Given the description of an element on the screen output the (x, y) to click on. 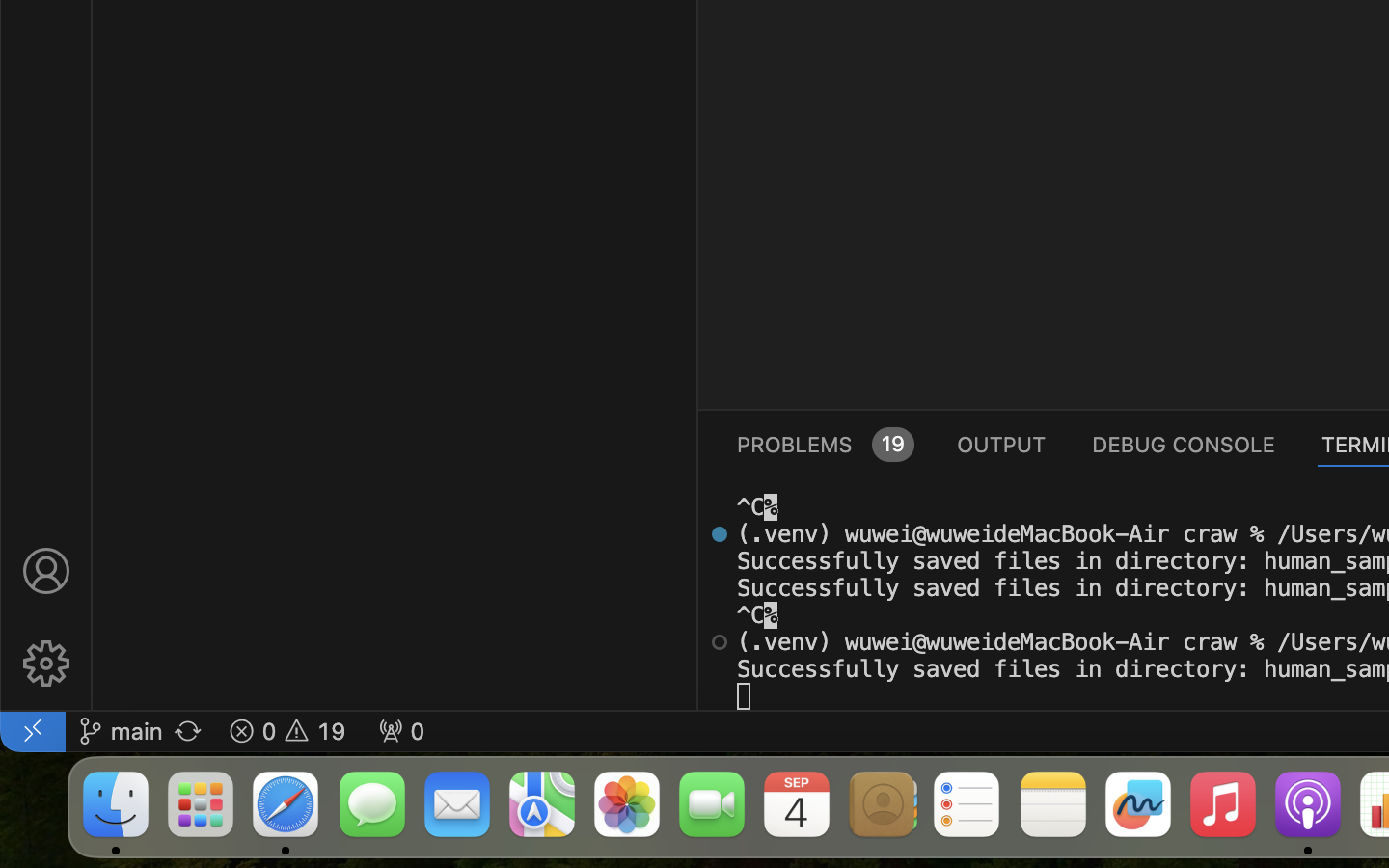
 Element type: AXStaticText (719, 533)
0 DEBUG CONSOLE Element type: AXRadioButton (1183, 443)
19 0   Element type: AXButton (286, 730)
0 PROBLEMS 19 Element type: AXRadioButton (824, 443)
 Element type: AXStaticText (719, 641)
